Given the description of an element on the screen output the (x, y) to click on. 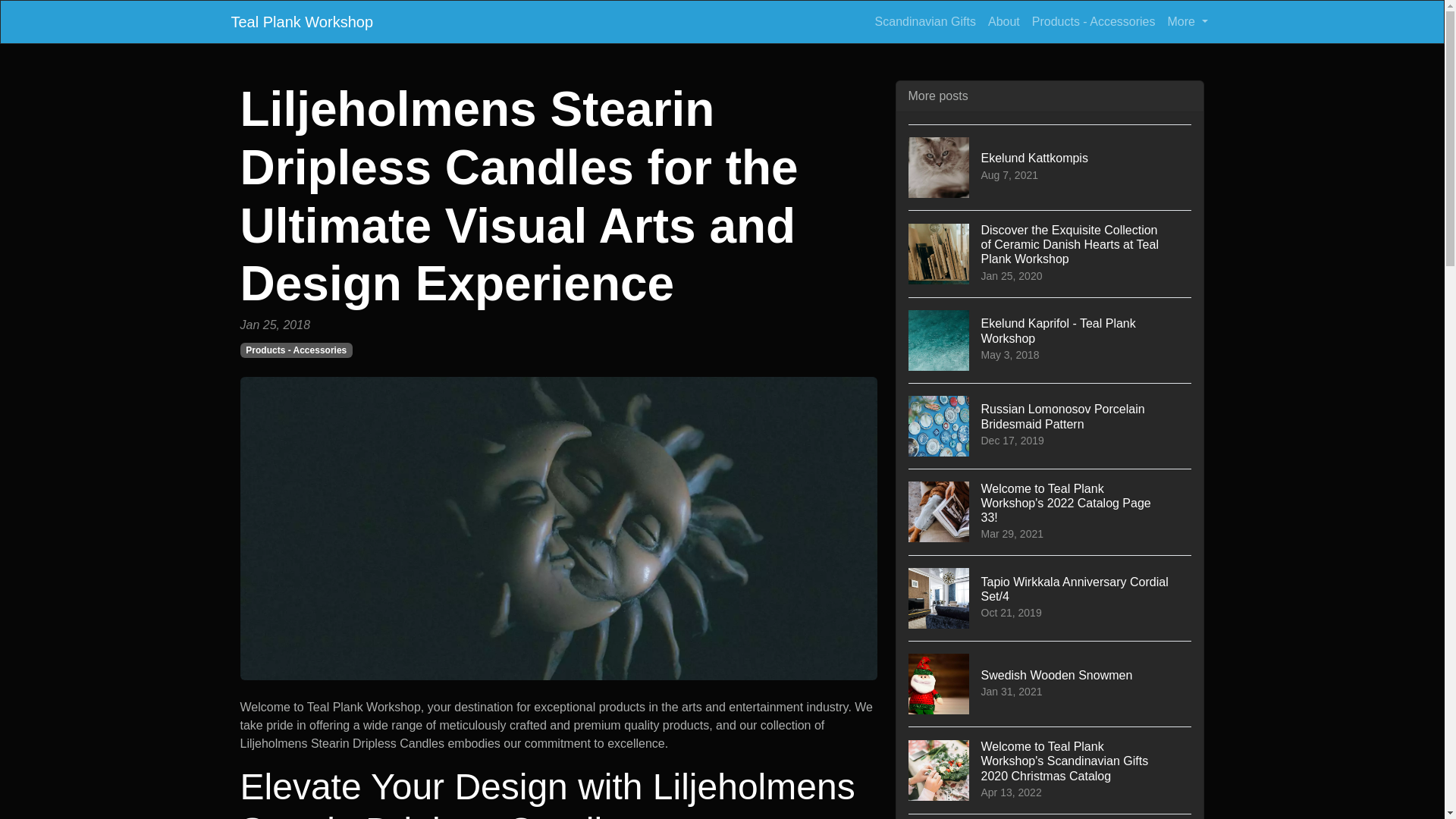
Products - Accessories (296, 350)
Teal Plank Workshop (1050, 166)
Products - Accessories (1050, 683)
About (301, 21)
More (1050, 425)
Scandinavian Gifts (1093, 21)
